Given the description of an element on the screen output the (x, y) to click on. 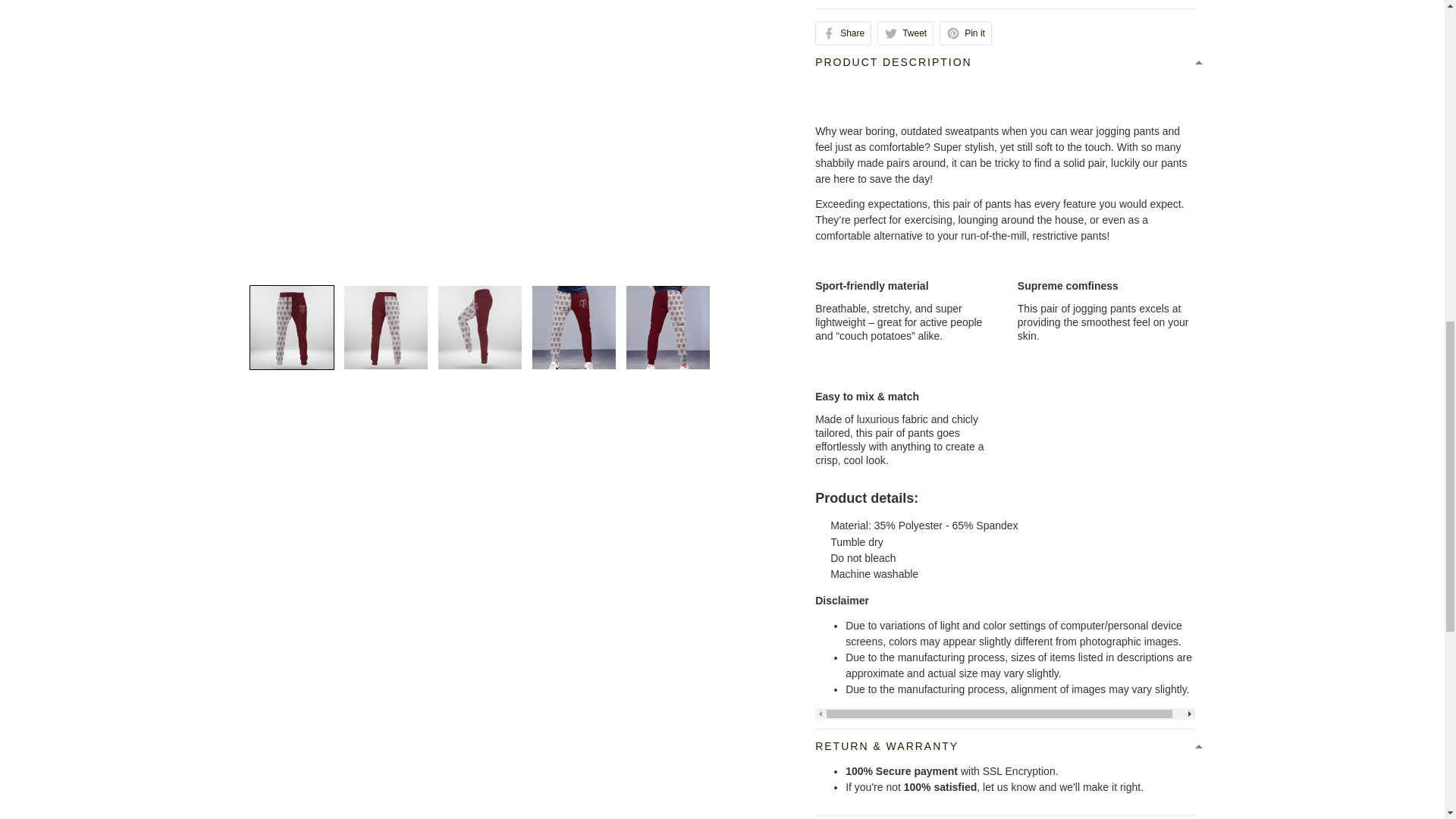
Share (842, 33)
Pin it (965, 33)
Tweet (905, 33)
Pin on Pinterest (965, 33)
Share on Facebook (842, 33)
Share on Twitter (905, 33)
